Given the description of an element on the screen output the (x, y) to click on. 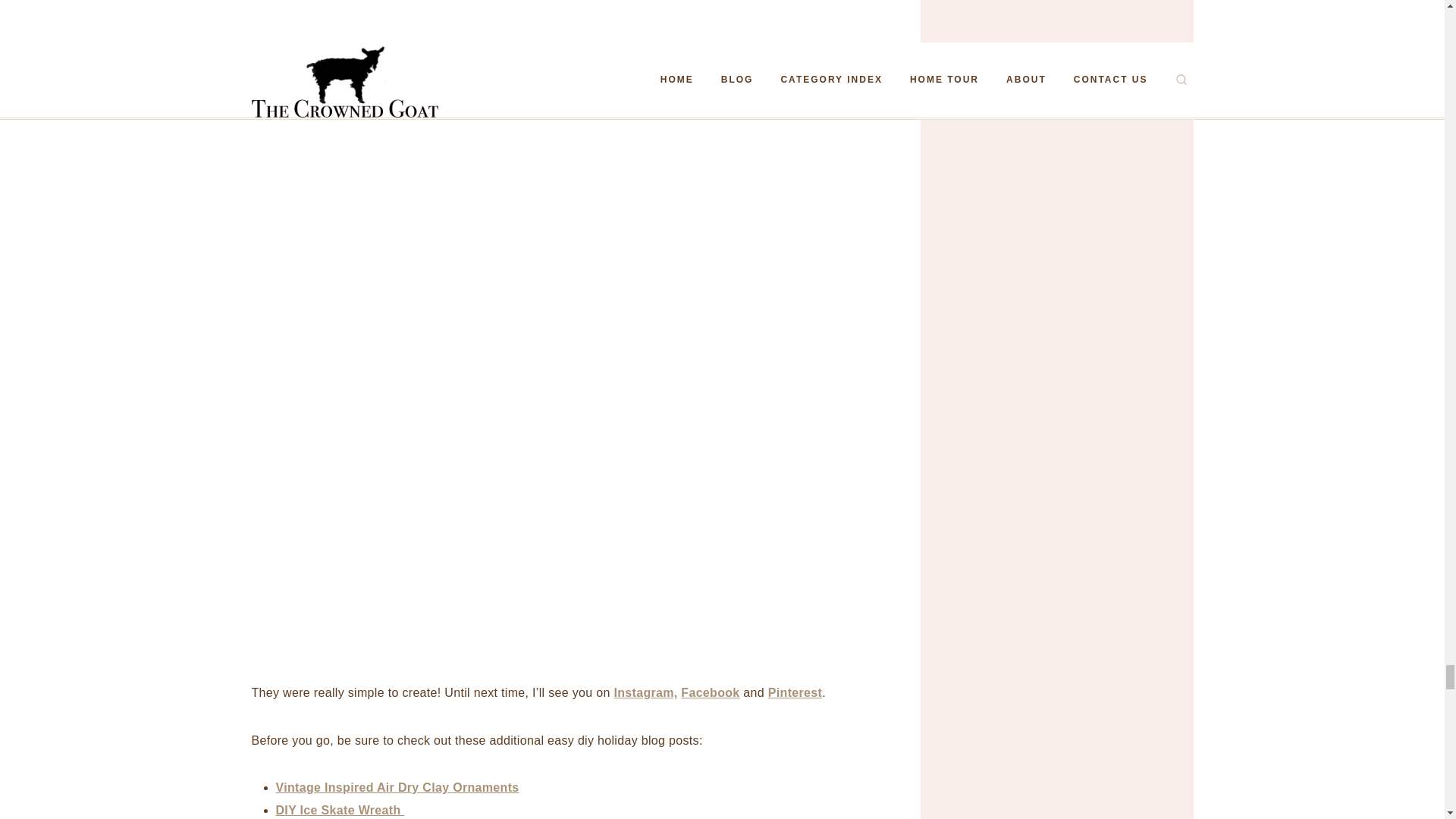
Instagram, (644, 692)
Vintage Inspired Air Dry Clay Ornaments (397, 787)
Facebook (710, 692)
DIY Ice Skate Wreath  (340, 809)
Pinterest (795, 692)
